Given the description of an element on the screen output the (x, y) to click on. 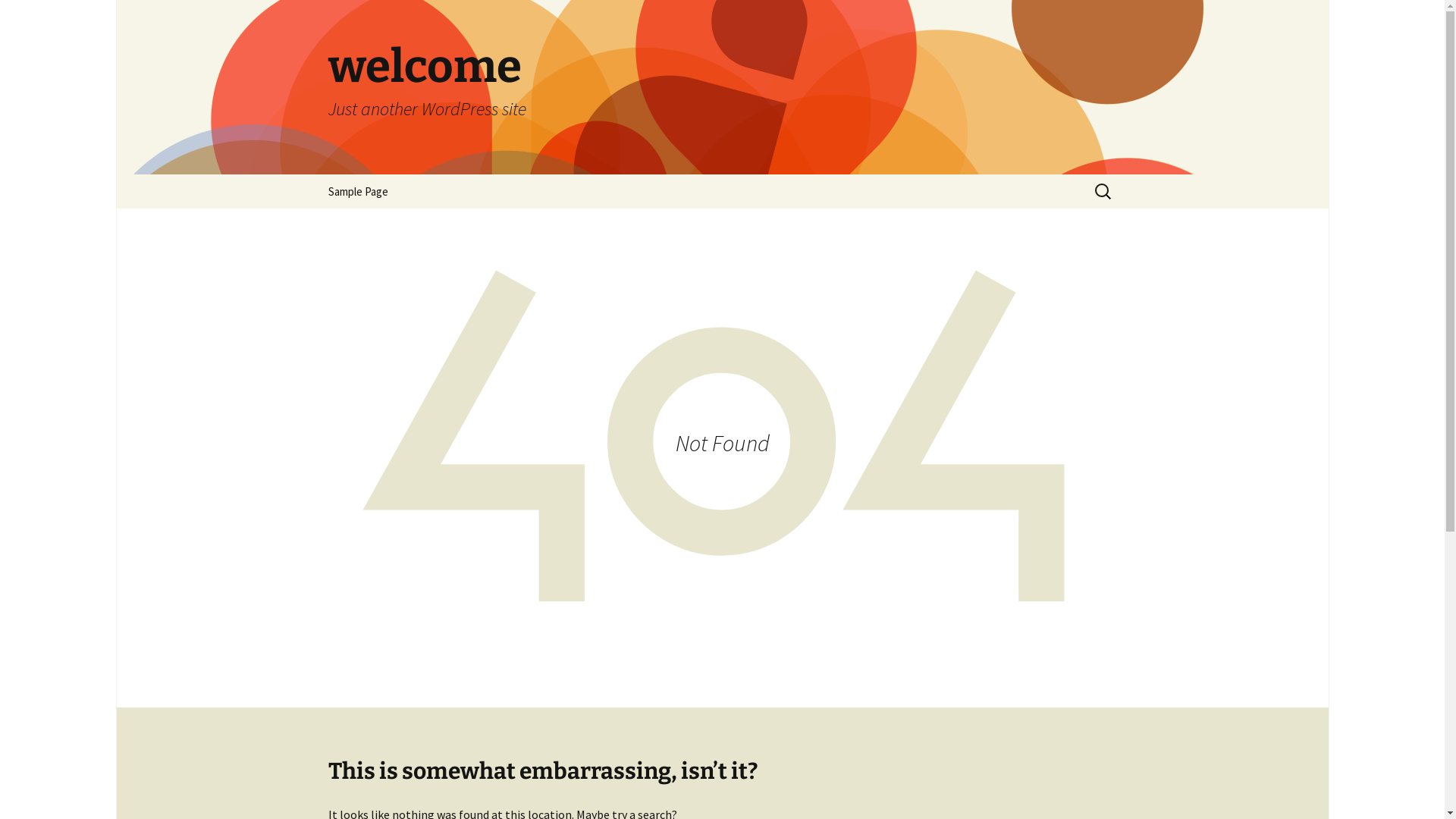
Search Element type: text (18, 16)
Sample Page Element type: text (357, 191)
Search Element type: text (34, 15)
welcome
Just another WordPress site Element type: text (721, 87)
Skip to content Element type: text (312, 174)
Search Element type: text (35, 16)
